Given the description of an element on the screen output the (x, y) to click on. 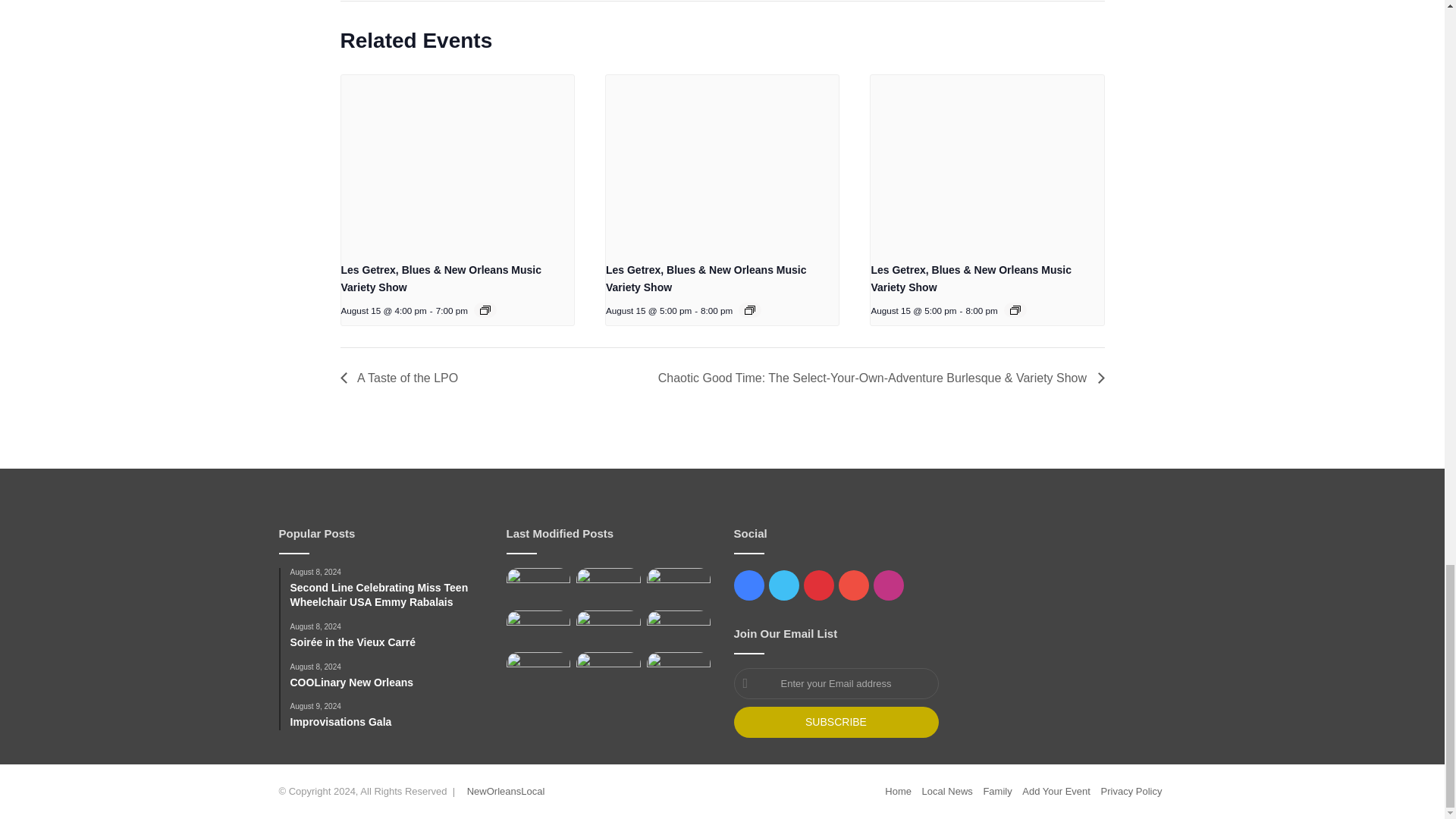
Event Series (749, 309)
Event Series (1015, 309)
Event Series (485, 309)
Subscribe (836, 721)
